Given the description of an element on the screen output the (x, y) to click on. 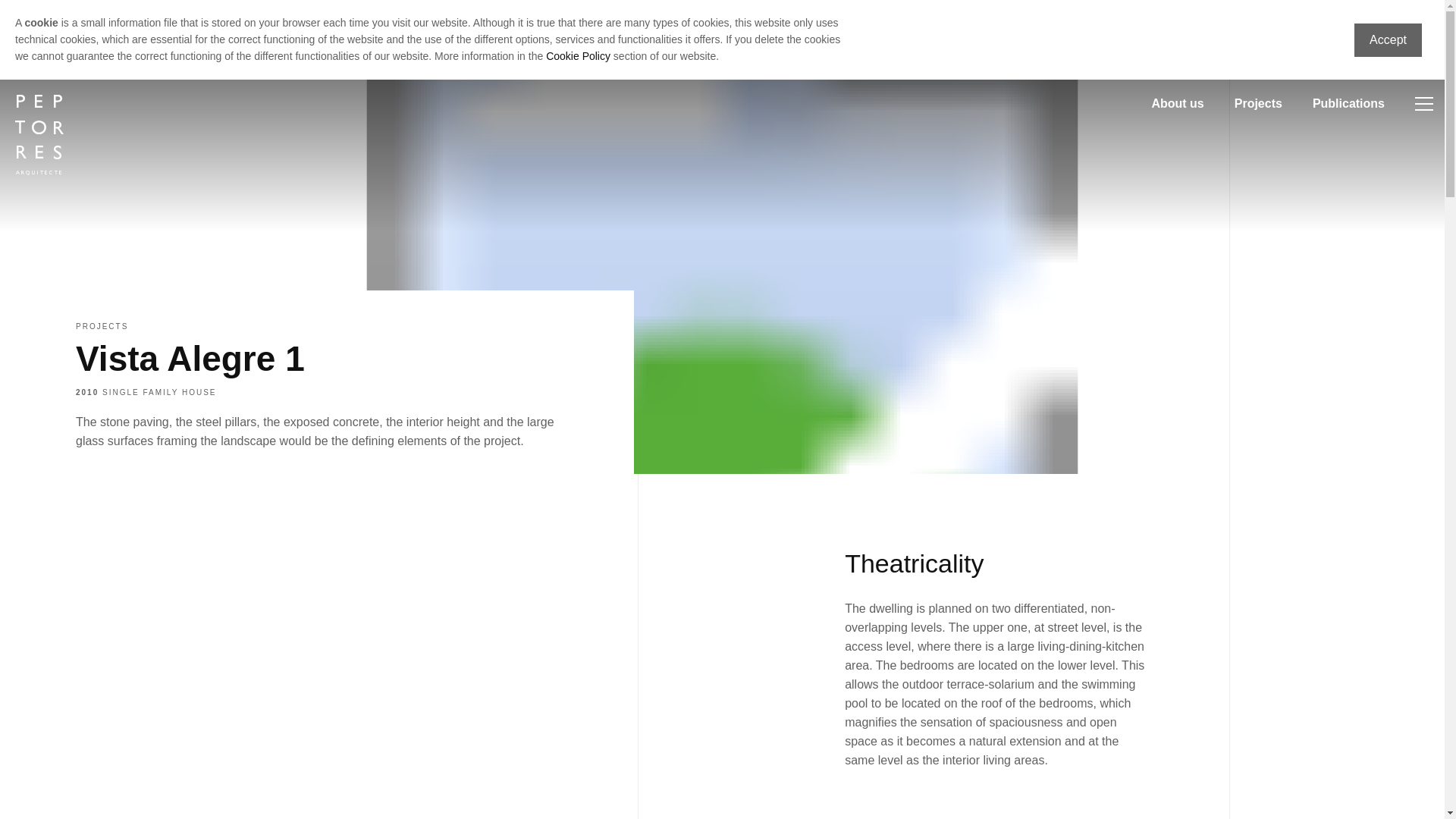
Projects (1258, 103)
About us (1177, 103)
Cookie Policy (578, 55)
Publications (1348, 103)
Accept (1388, 39)
